Given the description of an element on the screen output the (x, y) to click on. 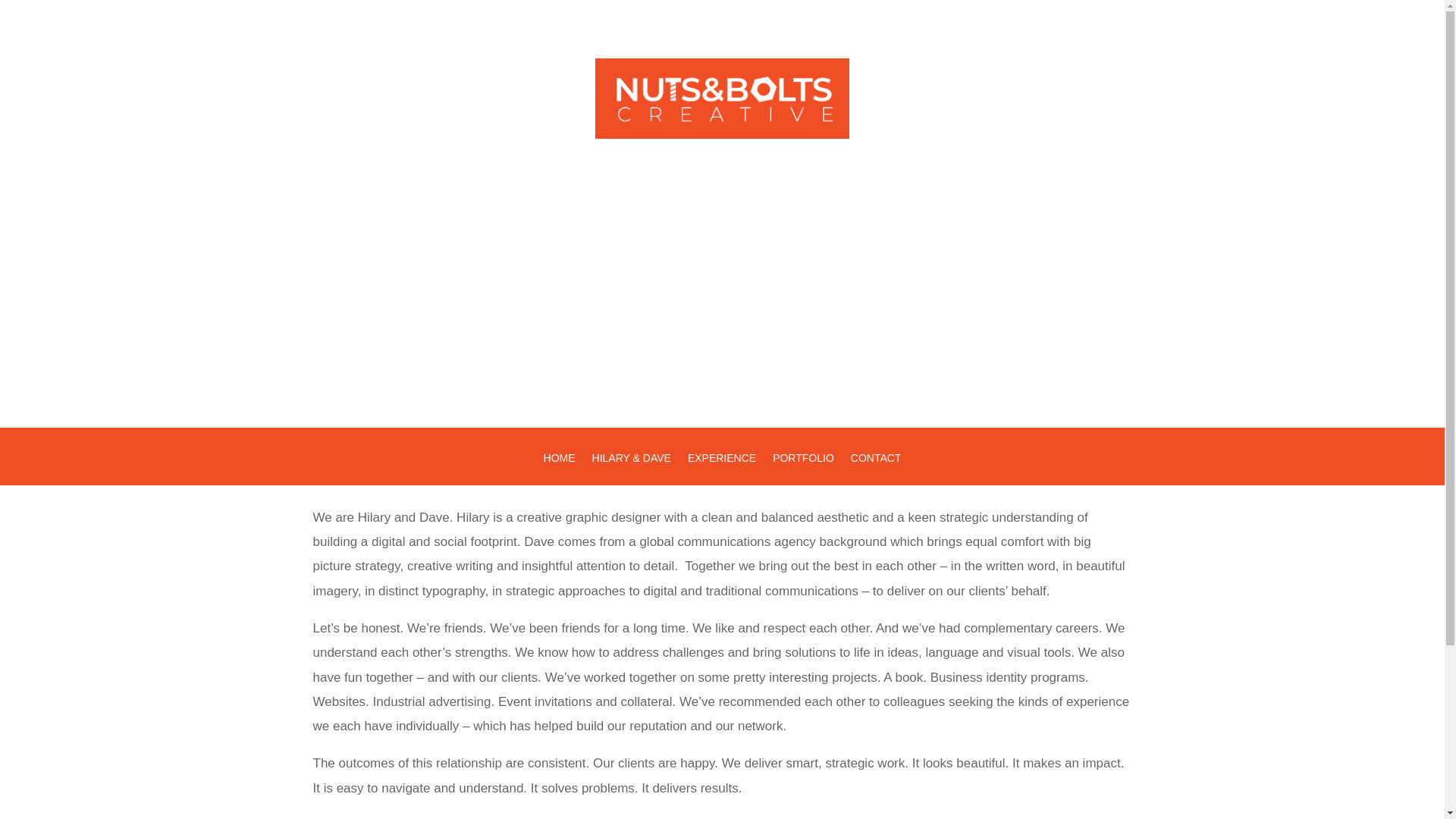
CONTACT (875, 468)
HOME (559, 468)
EXPERIENCE (721, 468)
PORTFOLIO (803, 468)
